Given the description of an element on the screen output the (x, y) to click on. 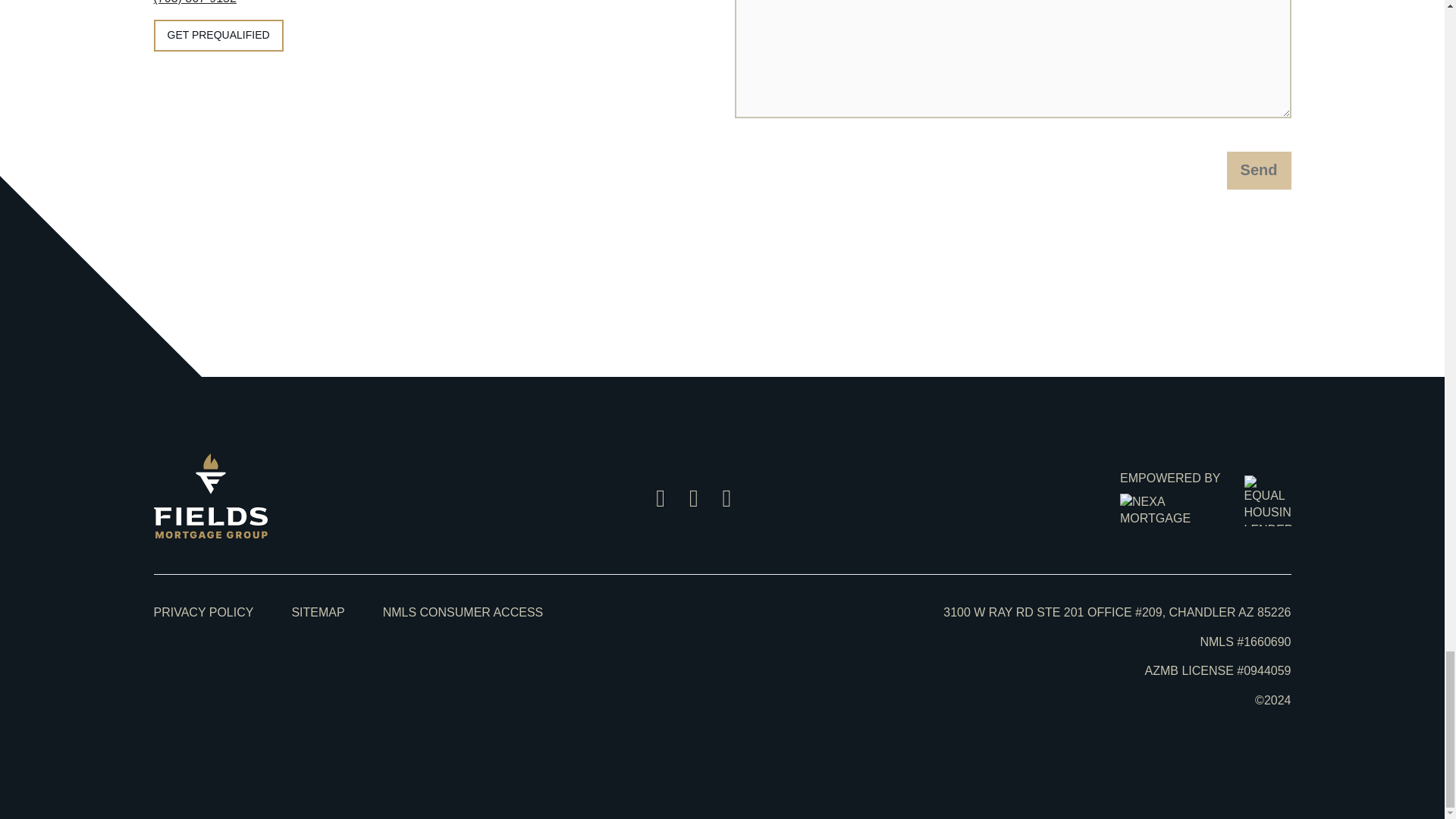
GET PREQUALIFIED (217, 35)
Send (1259, 170)
Nexa Mortgage (1169, 509)
SITEMAP (317, 612)
GROUP (209, 495)
GROUP (209, 533)
PRIVACY POLICY (202, 612)
NMLS CONSUMER ACCESS (462, 612)
Send (1259, 170)
Fields Mortgage Group (209, 533)
